Given the description of an element on the screen output the (x, y) to click on. 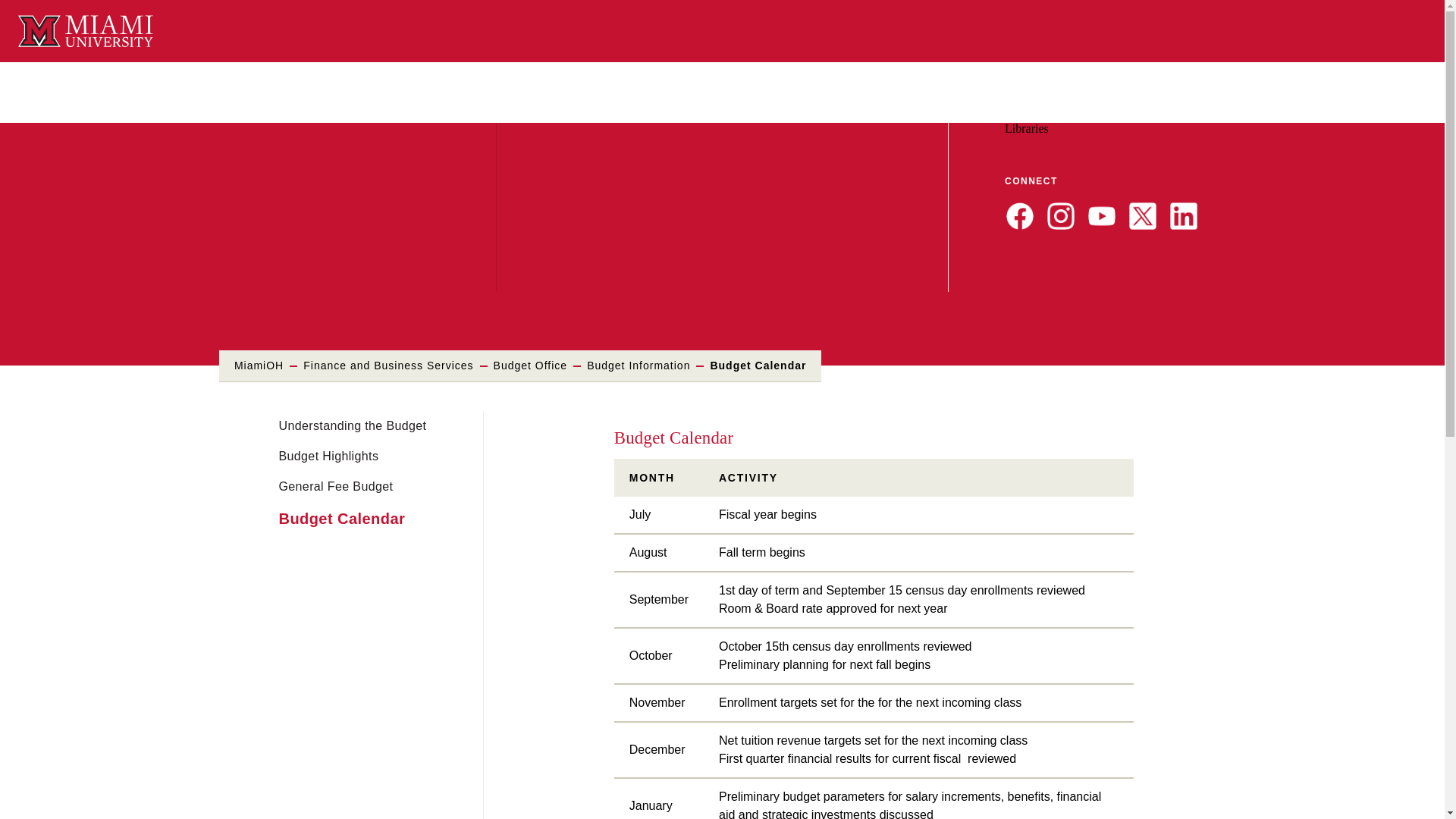
myMiami (1034, 114)
Budget Calendar (342, 518)
Pay My Bill (1232, 114)
Finance and Business Services (387, 365)
Workday (1090, 114)
Budget Office (530, 365)
Understanding the Budget (352, 425)
MiamiOH (258, 365)
One Stop (1287, 114)
